Given the description of an element on the screen output the (x, y) to click on. 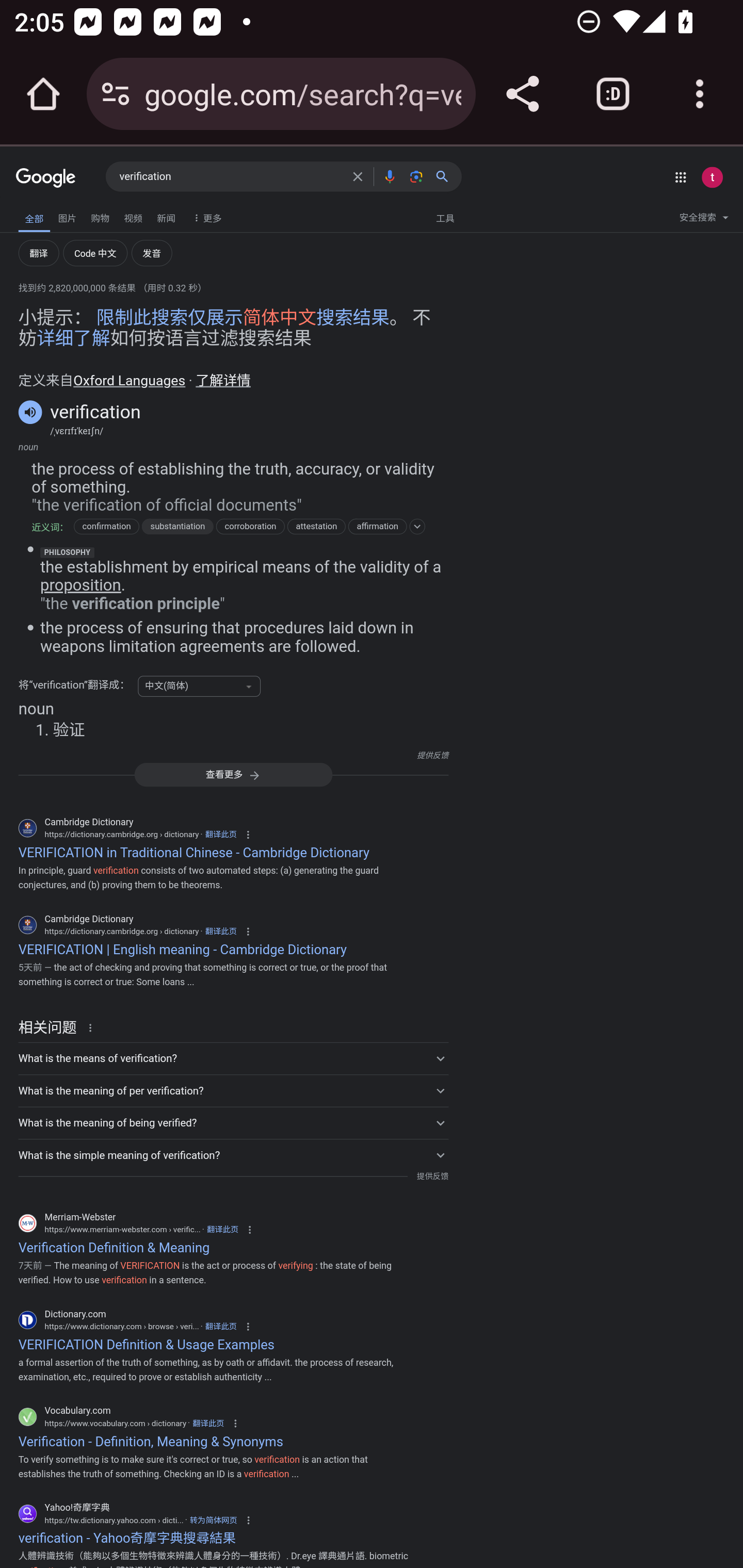
Open the home page (43, 93)
Connection is secure (115, 93)
Share (522, 93)
Switch or close tabs (612, 93)
Customize and control Google Chrome (699, 93)
